Given the description of an element on the screen output the (x, y) to click on. 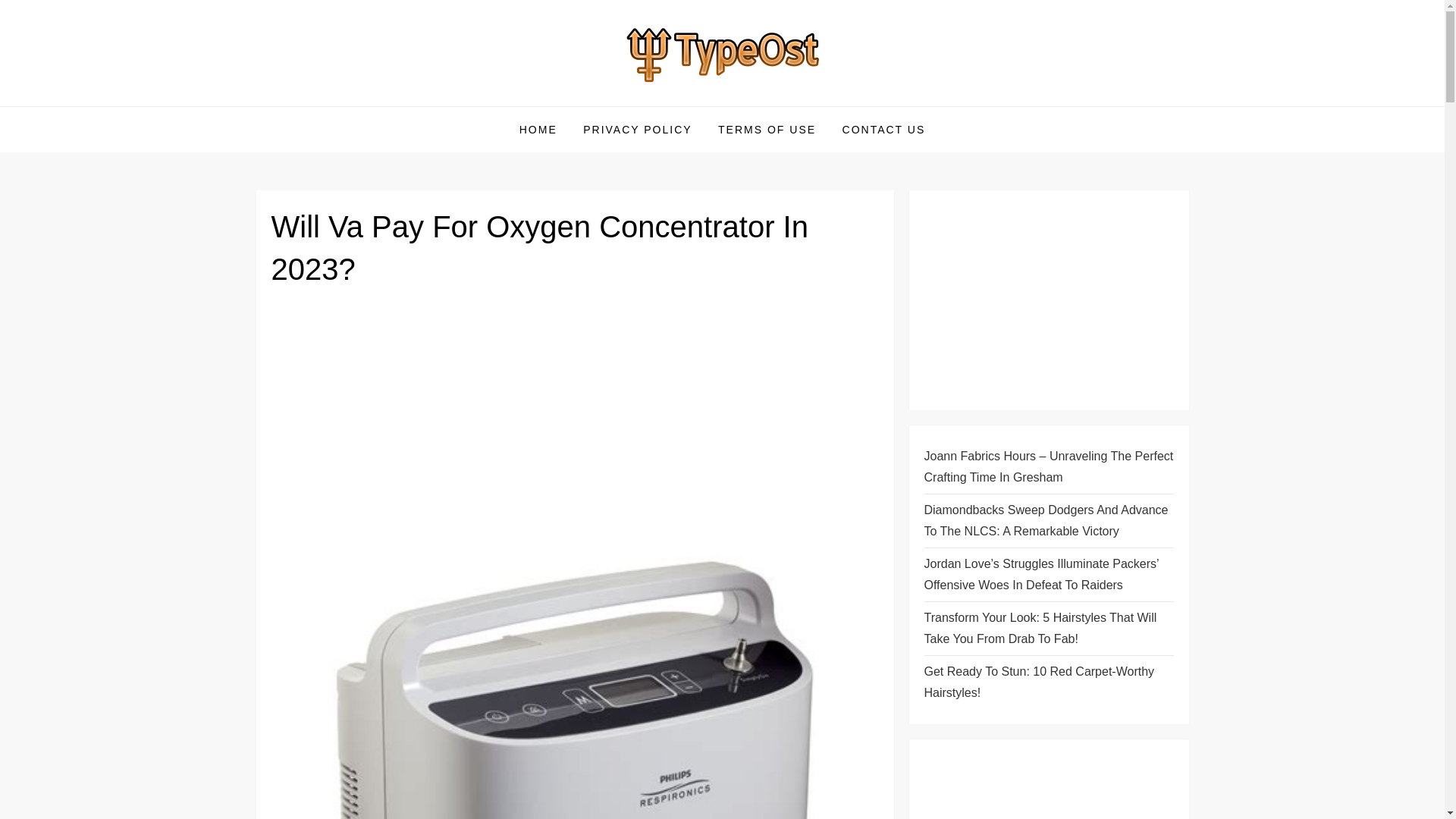
Advertisement (1037, 786)
TypeOst (312, 105)
CONTACT US (884, 129)
Advertisement (574, 418)
TERMS OF USE (766, 129)
HOME (538, 129)
Advertisement (1048, 299)
Get Ready To Stun: 10 Red Carpet-Worthy Hairstyles! (1048, 681)
PRIVACY POLICY (637, 129)
